Given the description of an element on the screen output the (x, y) to click on. 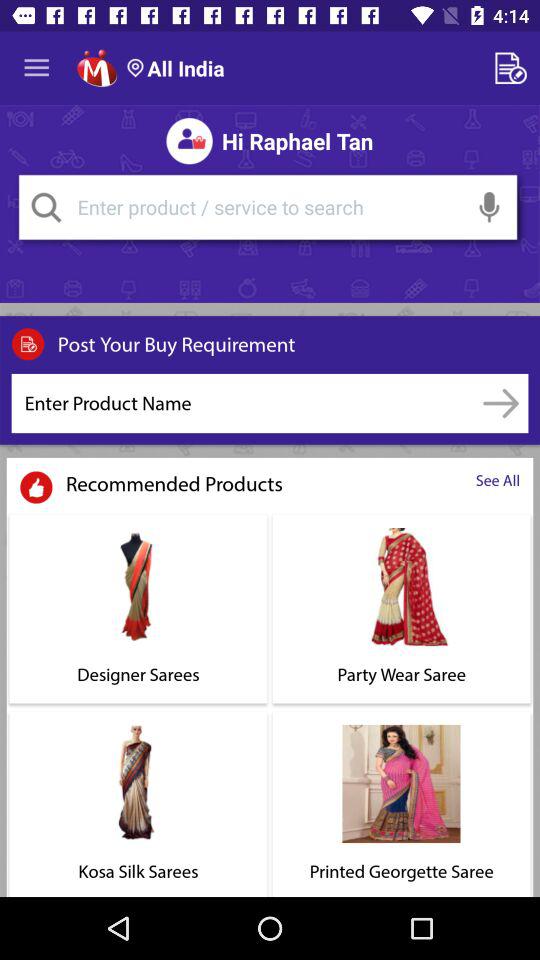
go to option (500, 403)
